Given the description of an element on the screen output the (x, y) to click on. 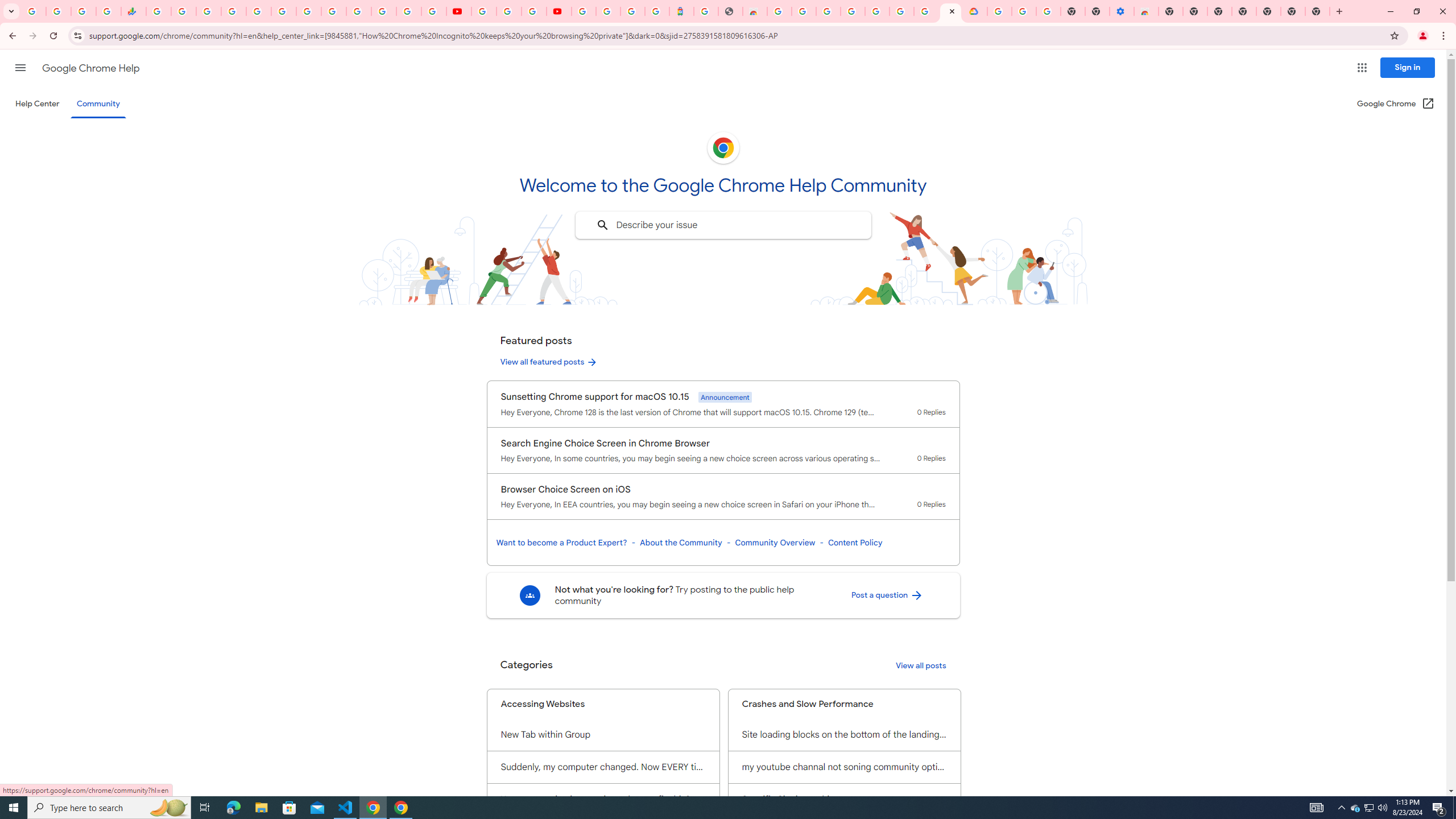
Google Chrome Help (90, 68)
YouTube (332, 11)
Sign in - Google Accounts (583, 11)
Android TV Policies and Guidelines - Transparency Center (308, 11)
